Given the description of an element on the screen output the (x, y) to click on. 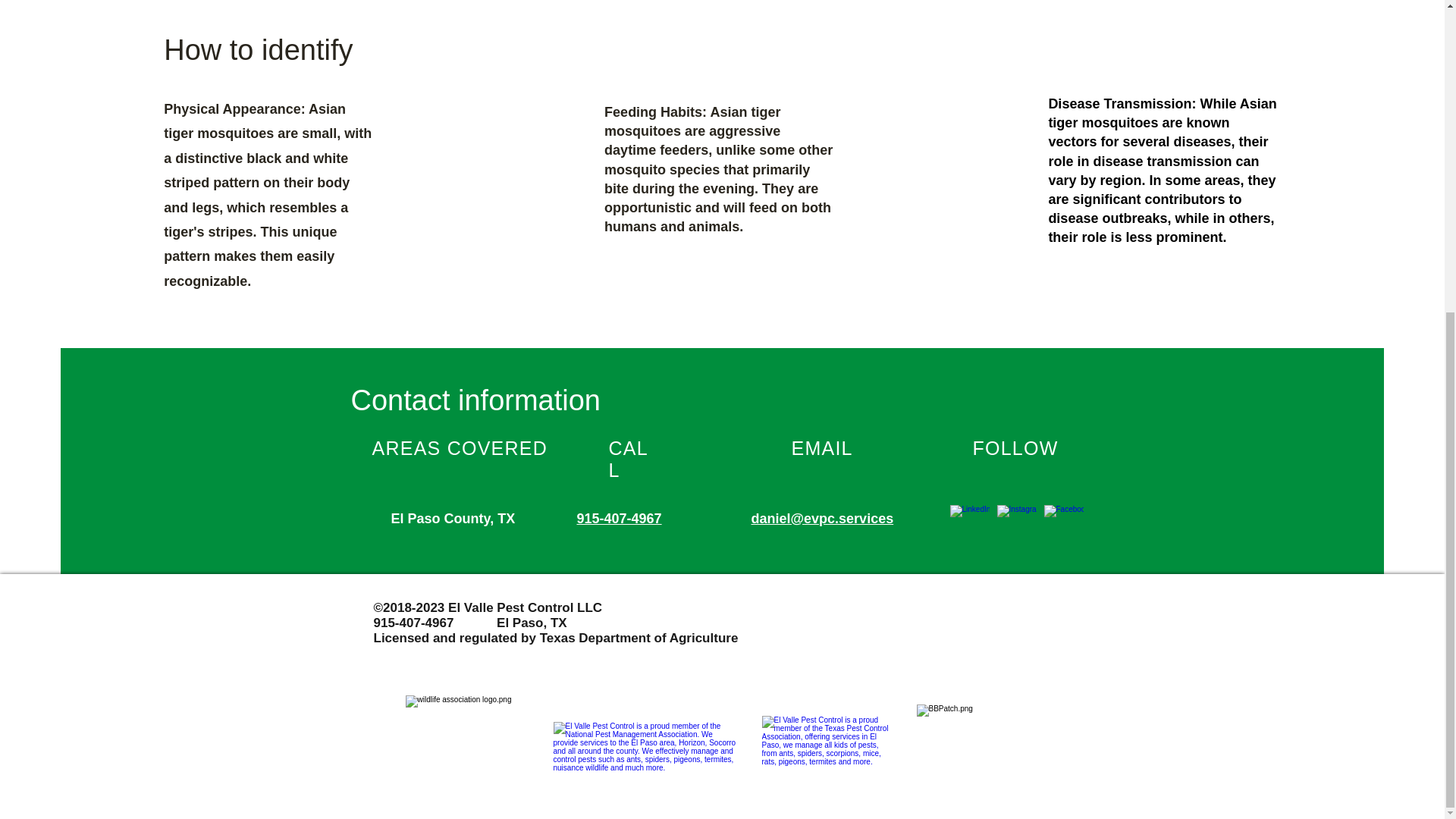
915-407-4967 (618, 518)
